Given the description of an element on the screen output the (x, y) to click on. 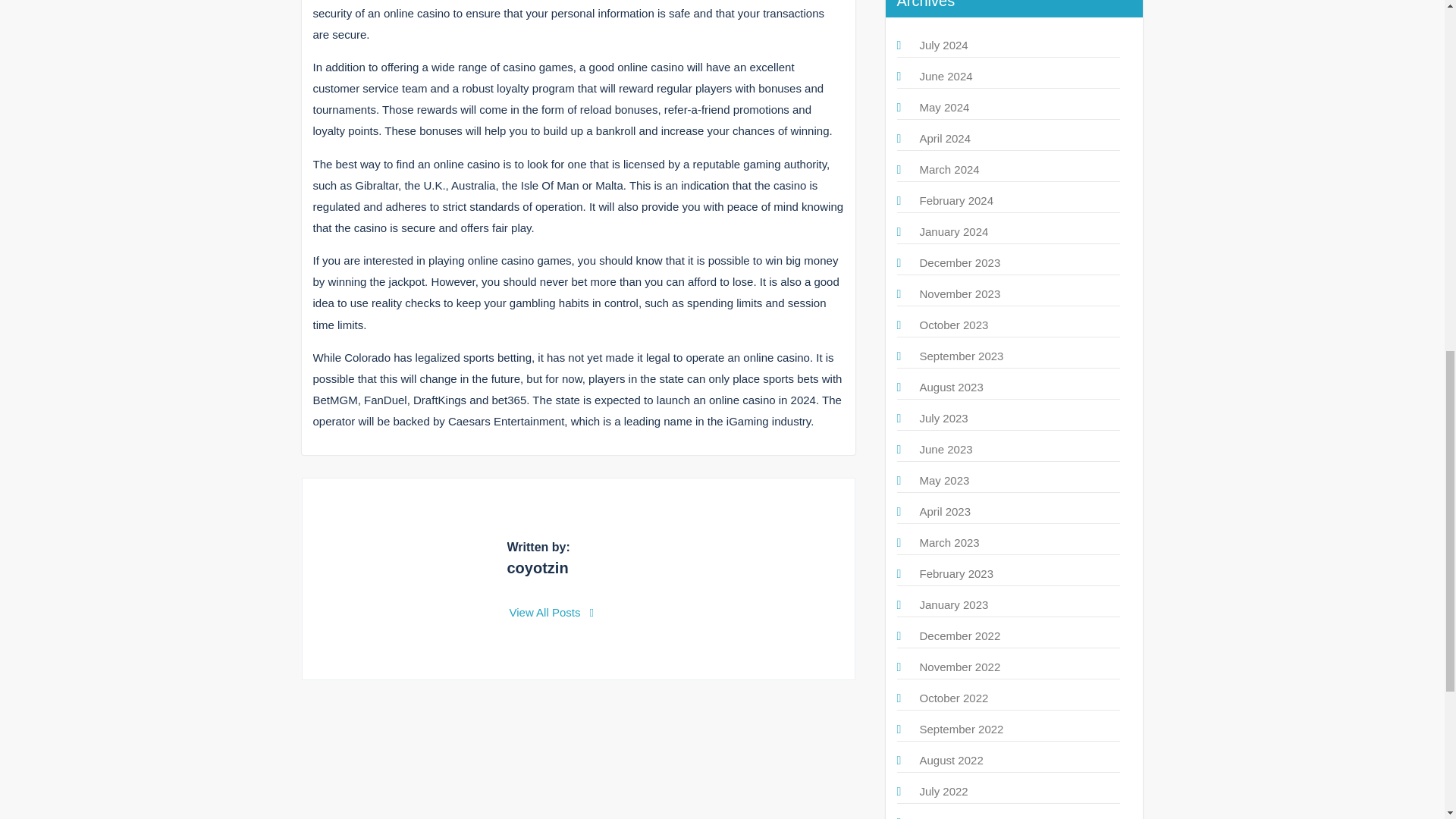
June 2023 (945, 449)
November 2023 (959, 293)
September 2022 (960, 728)
March 2024 (948, 169)
March 2023 (948, 542)
July 2022 (943, 790)
July 2024 (943, 44)
June 2022 (945, 817)
December 2023 (959, 262)
May 2024 (943, 106)
July 2023 (943, 418)
April 2023 (944, 511)
November 2022 (959, 666)
June 2024 (945, 75)
August 2023 (950, 386)
